Given the description of an element on the screen output the (x, y) to click on. 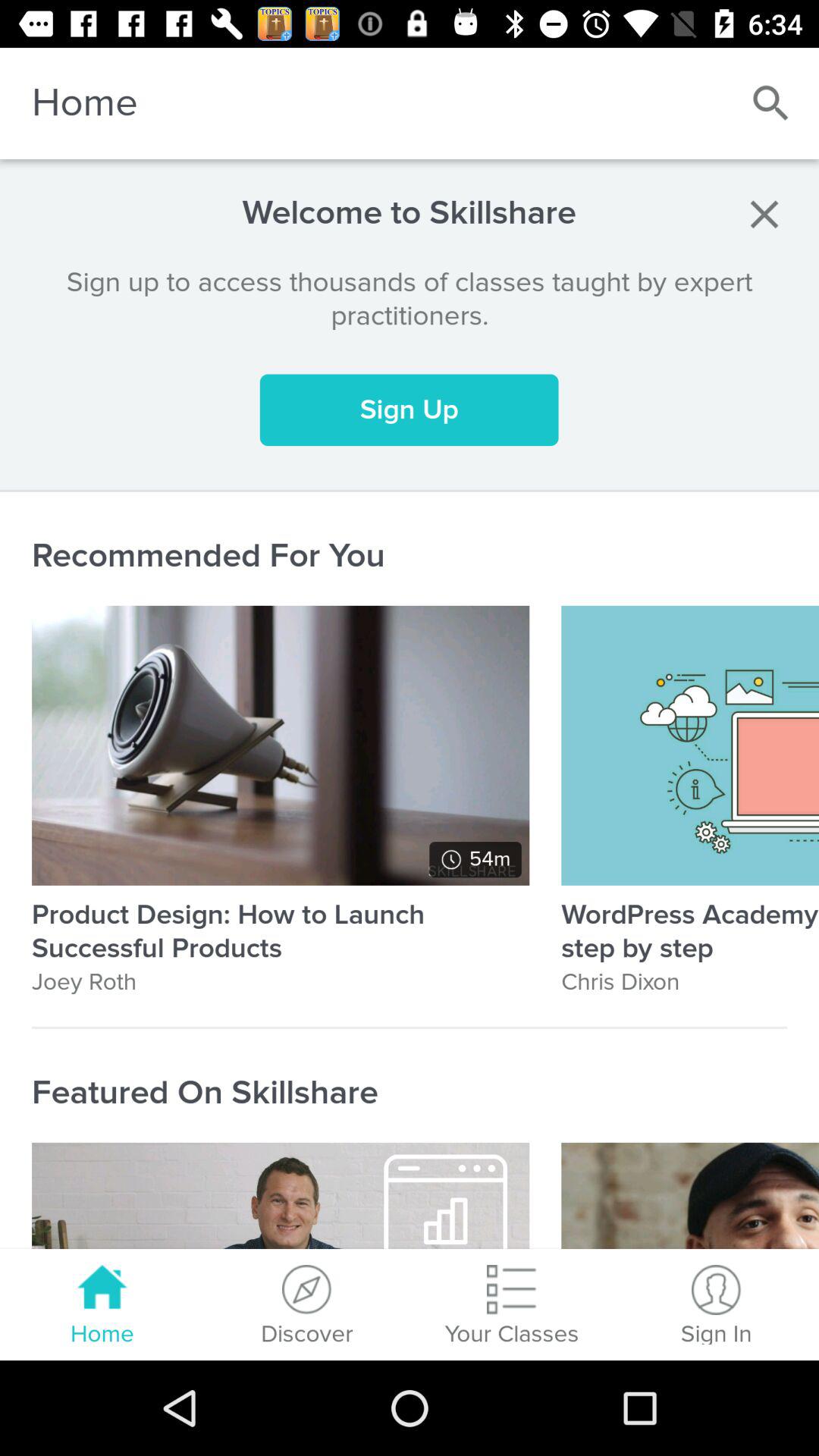
open the item above sign up to icon (764, 214)
